Given the description of an element on the screen output the (x, y) to click on. 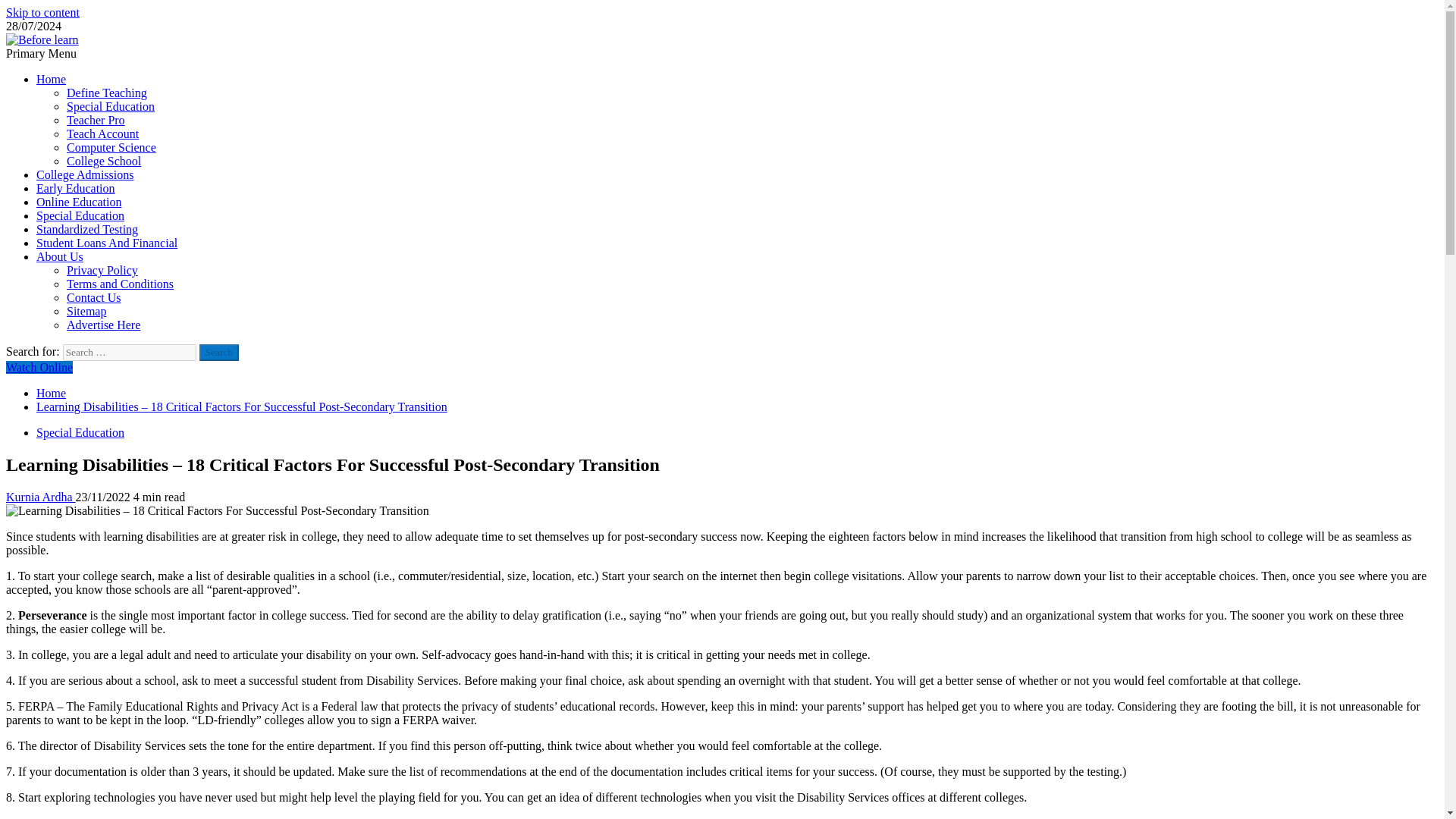
Primary Menu (41, 52)
Kurnia Ardha (40, 496)
Home (50, 392)
Define Teaching (106, 92)
Watch Online (38, 367)
About Us (59, 256)
Teach Account (102, 133)
Search (218, 352)
College School (103, 160)
Search (218, 352)
College Admissions (84, 174)
Standardized Testing (87, 228)
Online Education (78, 201)
Privacy Policy (102, 269)
Computer Science (110, 146)
